Given the description of an element on the screen output the (x, y) to click on. 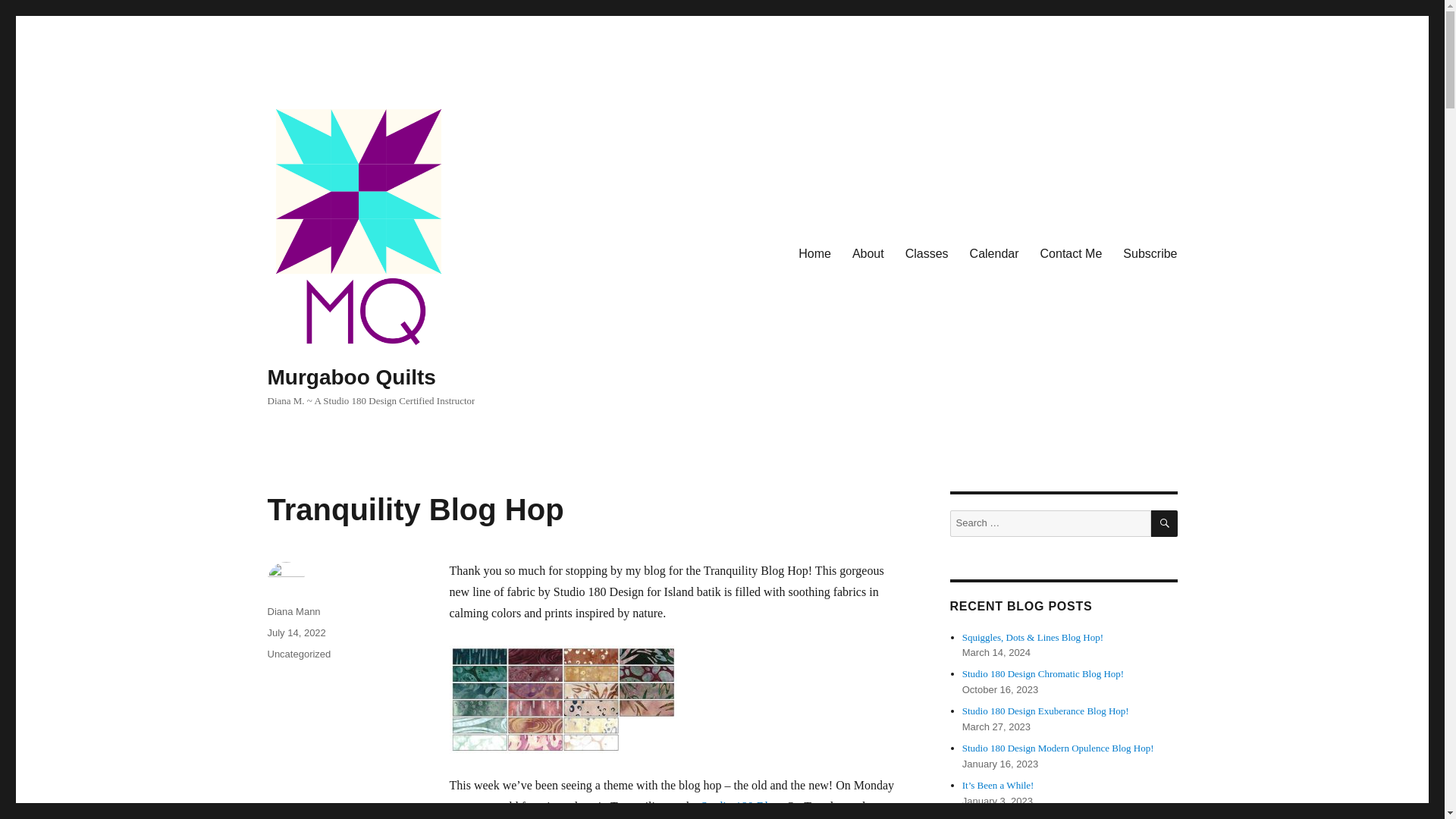
Studio 180 Design Exuberance Blog Hop! (1045, 710)
SEARCH (1164, 523)
Calendar (994, 253)
Subscribe (1150, 253)
Classes (927, 253)
Studio 180 Blog (740, 806)
Uncategorized (298, 654)
Murgaboo Quilts (350, 377)
Diana Mann (293, 611)
Studio 180 Design Chromatic Blog Hop! (1043, 673)
Studio 180 Design Modern Opulence Blog Hop! (1058, 747)
July 14, 2022 (295, 632)
Contact Me (1071, 253)
Home (814, 253)
About (868, 253)
